Given the description of an element on the screen output the (x, y) to click on. 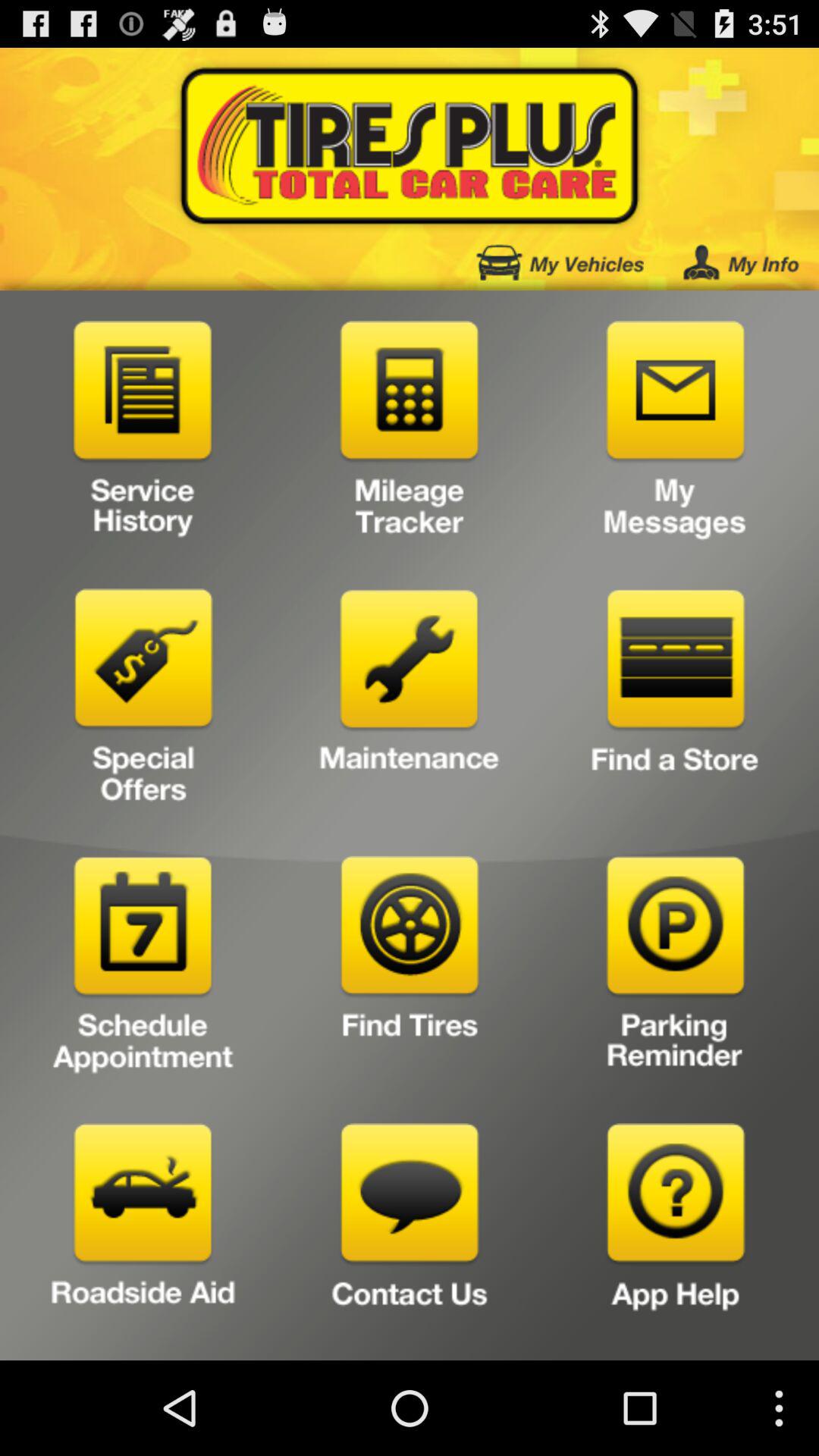
go to my info (741, 262)
